Given the description of an element on the screen output the (x, y) to click on. 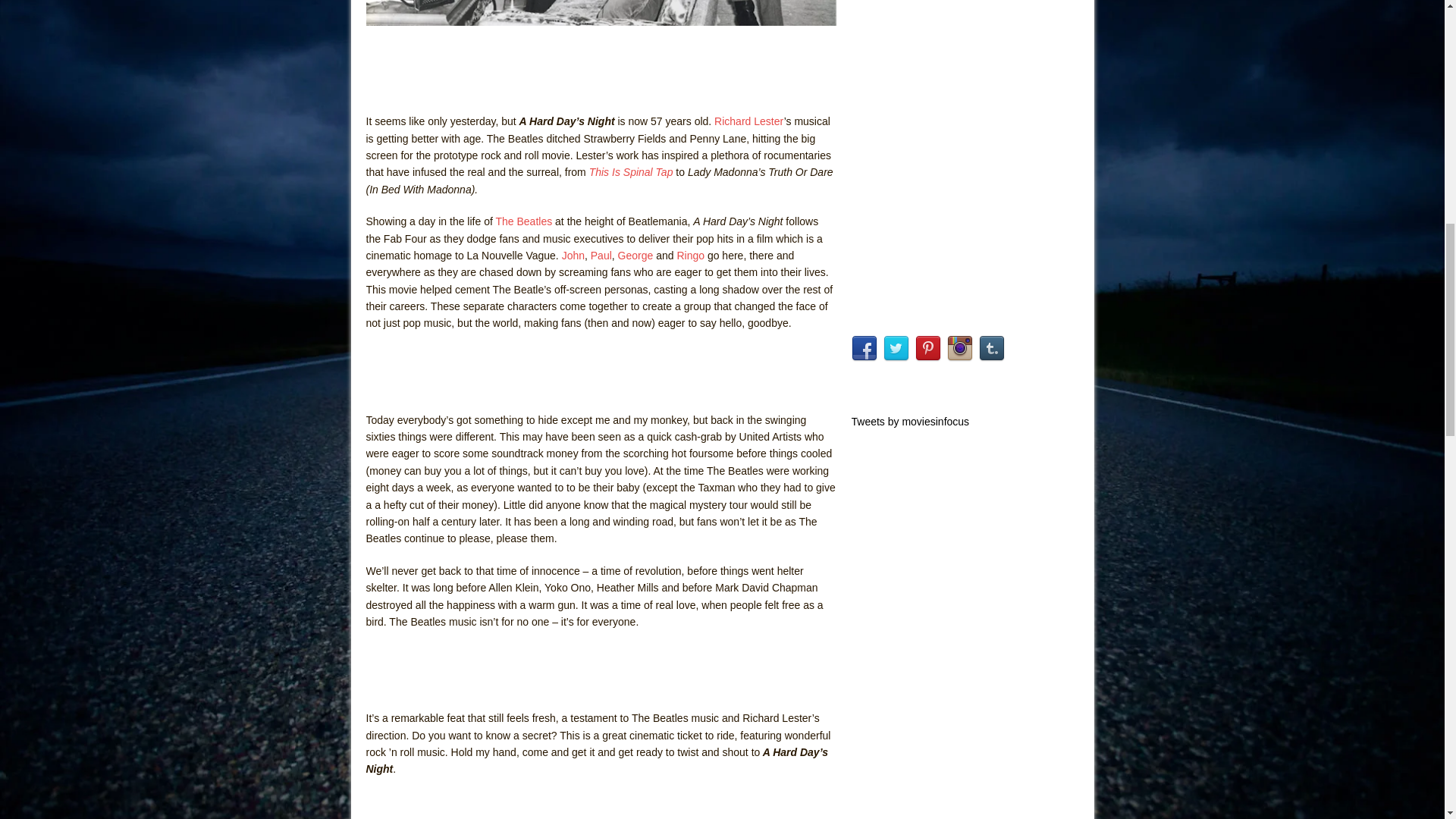
Paul (601, 255)
George (635, 255)
Richard Lester (749, 121)
This Is Spinal Tap (633, 172)
John (573, 255)
Ringo (690, 255)
The Beatles (523, 221)
